Given the description of an element on the screen output the (x, y) to click on. 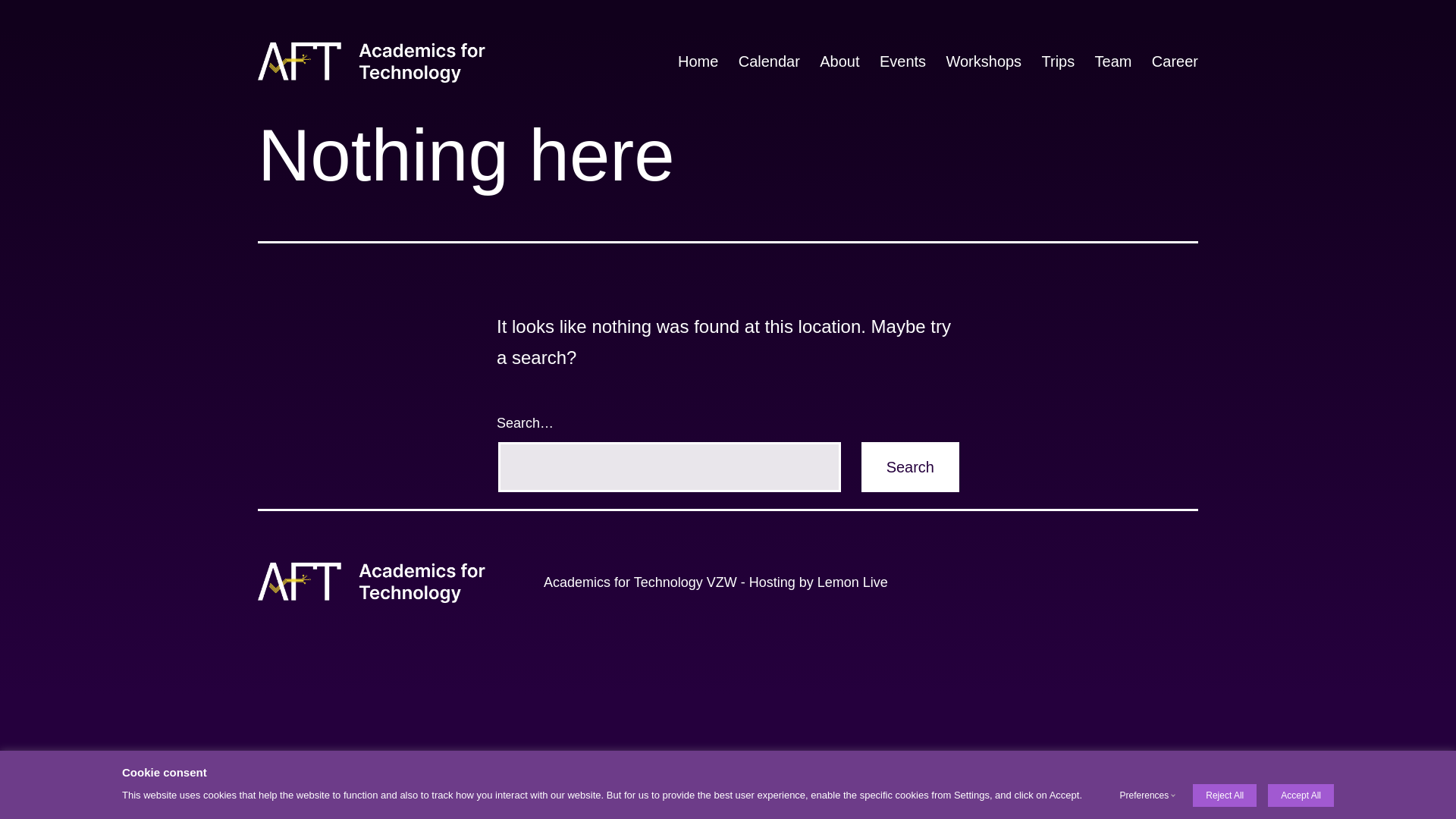
Reject All Element type: text (1224, 795)
Career Element type: text (1175, 61)
About Element type: text (839, 61)
Trips Element type: text (1057, 61)
Search Element type: text (910, 467)
Workshops Element type: text (983, 61)
Accept All Element type: text (1300, 795)
Home Element type: text (698, 61)
Events Element type: text (902, 61)
Calendar Element type: text (769, 61)
Preferences Element type: text (1144, 795)
Team Element type: text (1112, 61)
